Given the description of an element on the screen output the (x, y) to click on. 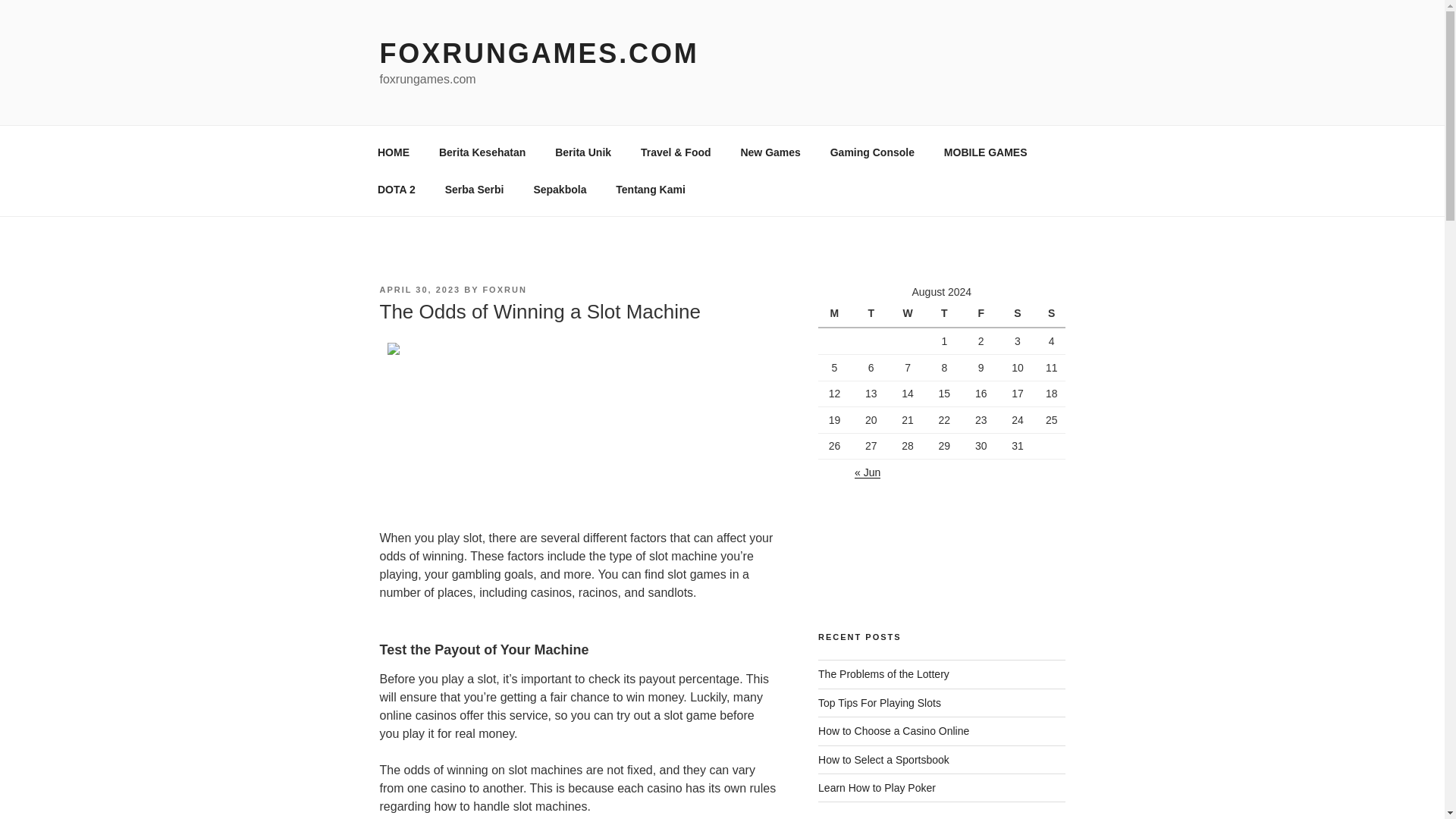
Wednesday (909, 313)
Top Tips For Playing Slots (879, 702)
Saturday (1019, 313)
Tuesday (872, 313)
FOXRUN (503, 289)
Tentang Kami (650, 189)
How to Choose a Casino Online (893, 730)
FOXRUNGAMES.COM (538, 52)
Sepakbola (559, 189)
How to Select a Sportsbook (883, 759)
